Given the description of an element on the screen output the (x, y) to click on. 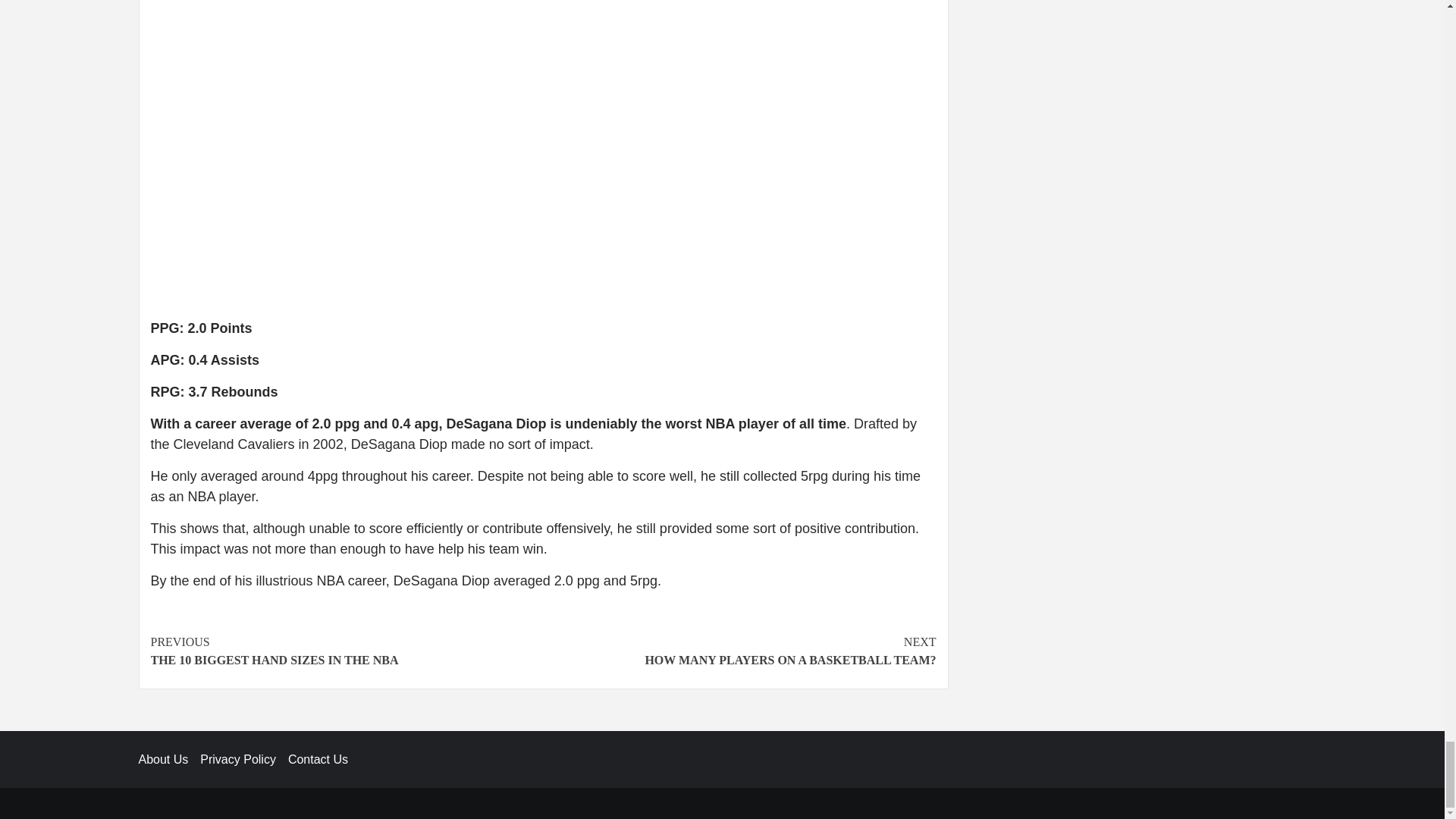
About Us (346, 651)
Privacy Policy (169, 758)
Contact Us (739, 651)
